Given the description of an element on the screen output the (x, y) to click on. 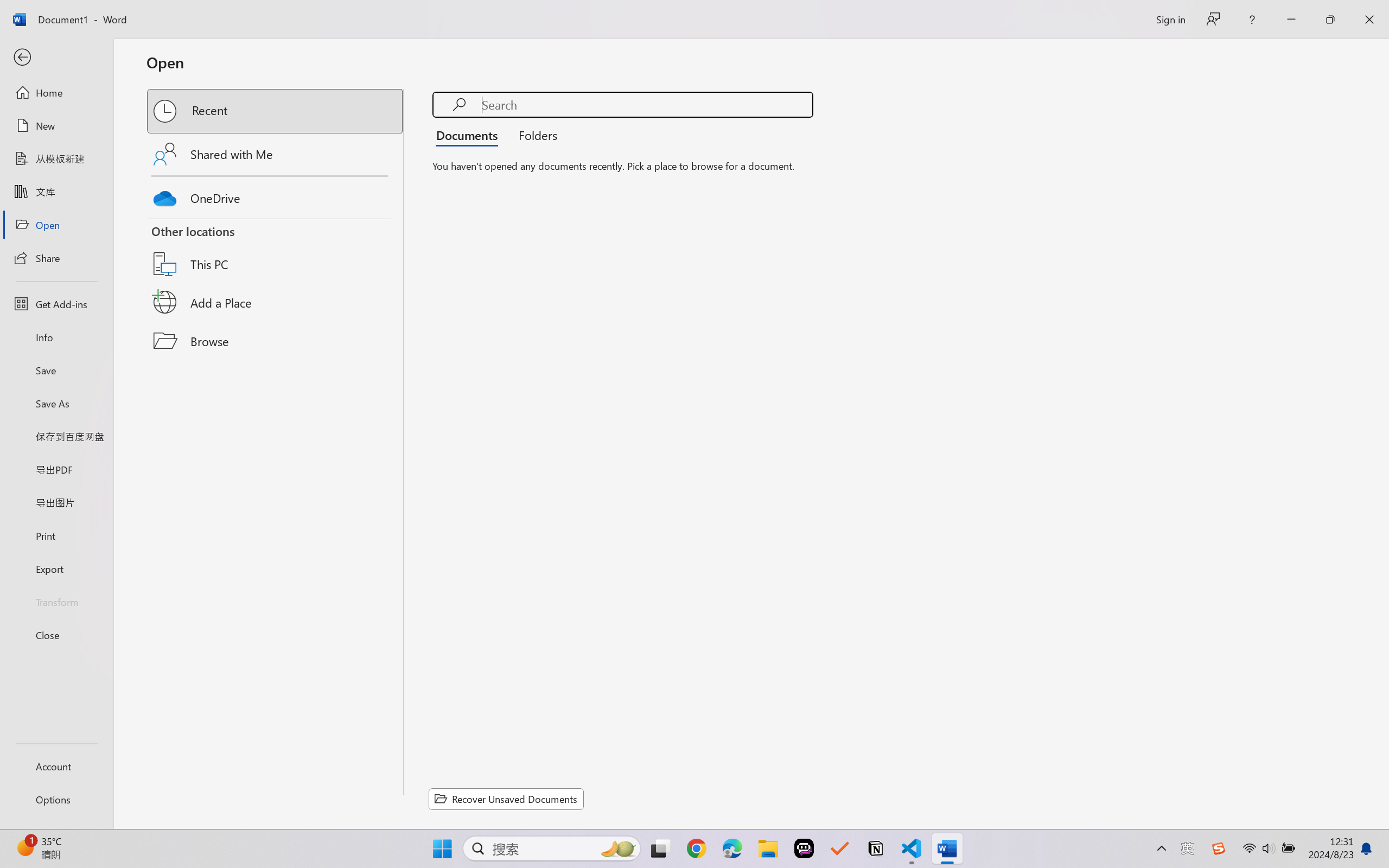
Get Add-ins (56, 303)
Account (56, 765)
Save As (56, 403)
Folders (534, 134)
Transform (56, 601)
OneDrive (275, 195)
Browse (275, 340)
